Given the description of an element on the screen output the (x, y) to click on. 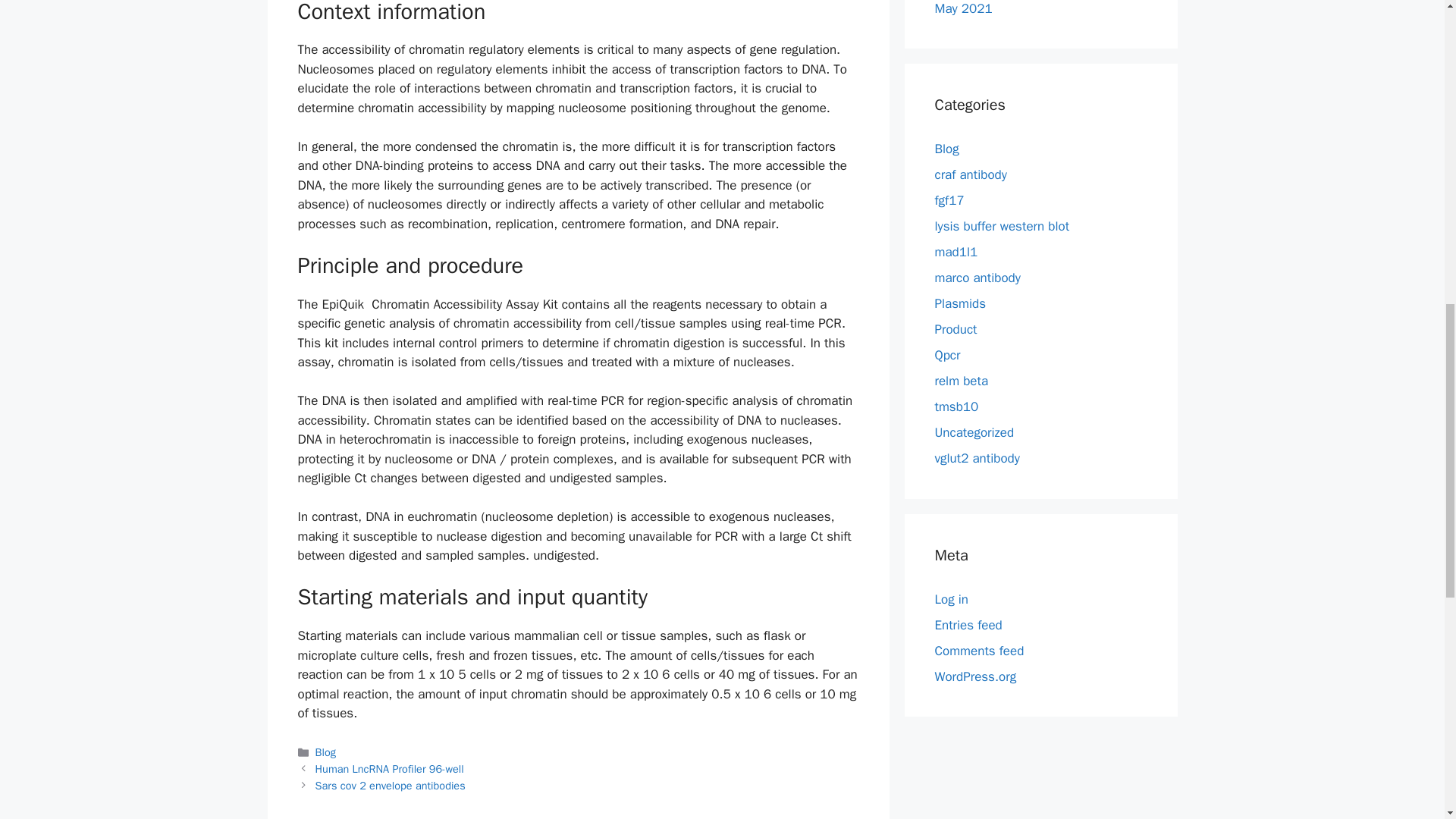
Blog (946, 148)
Sars cov 2 envelope antibodies (390, 785)
Blog (325, 752)
Previous (389, 768)
Qpcr (946, 355)
mad1l1 (955, 252)
Plasmids (959, 303)
Product (955, 329)
tmsb10 (956, 406)
craf antibody (970, 174)
